Given the description of an element on the screen output the (x, y) to click on. 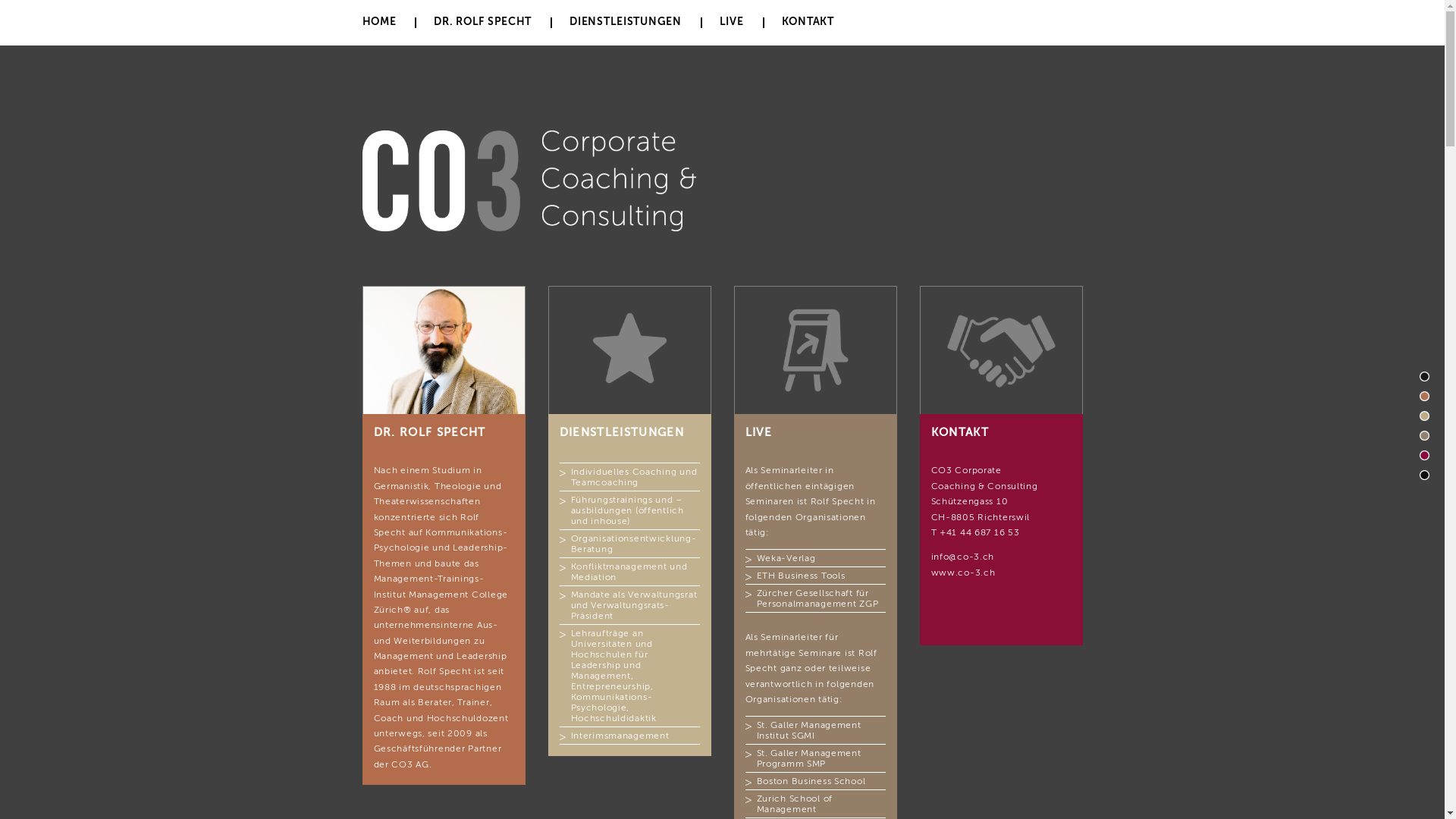
LIVE Element type: text (731, 21)
KONTAKT Element type: text (807, 21)
DR. ROLF SPECHT Element type: text (482, 21)
Weka-Verlag Element type: text (785, 557)
Boston Business School Element type: text (811, 780)
HOME Element type: text (379, 21)
info@co-3.ch Element type: text (962, 556)
St. Galler Management Programm SMP Element type: text (808, 757)
ETH Business Tools Element type: text (800, 575)
DIENSTLEISTUNGEN Element type: text (625, 21)
Zurich School of Management Element type: text (794, 803)
St. Galler Management Institut SGMI Element type: text (808, 729)
